Given the description of an element on the screen output the (x, y) to click on. 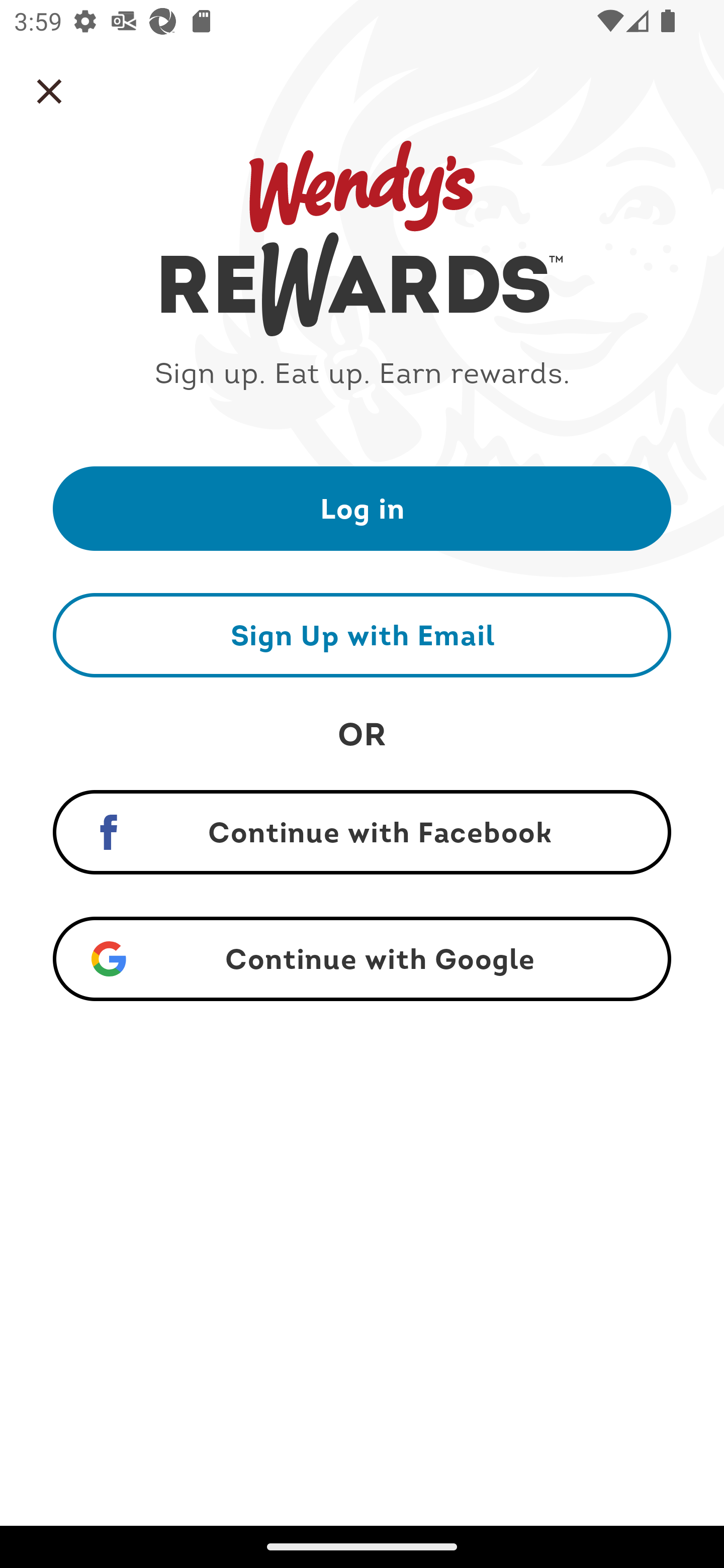
Navigate up (49, 91)
Log in (361, 507)
Sign Up with Email (361, 634)
Continue with Facebook (361, 832)
Continue with Google (361, 958)
